Given the description of an element on the screen output the (x, y) to click on. 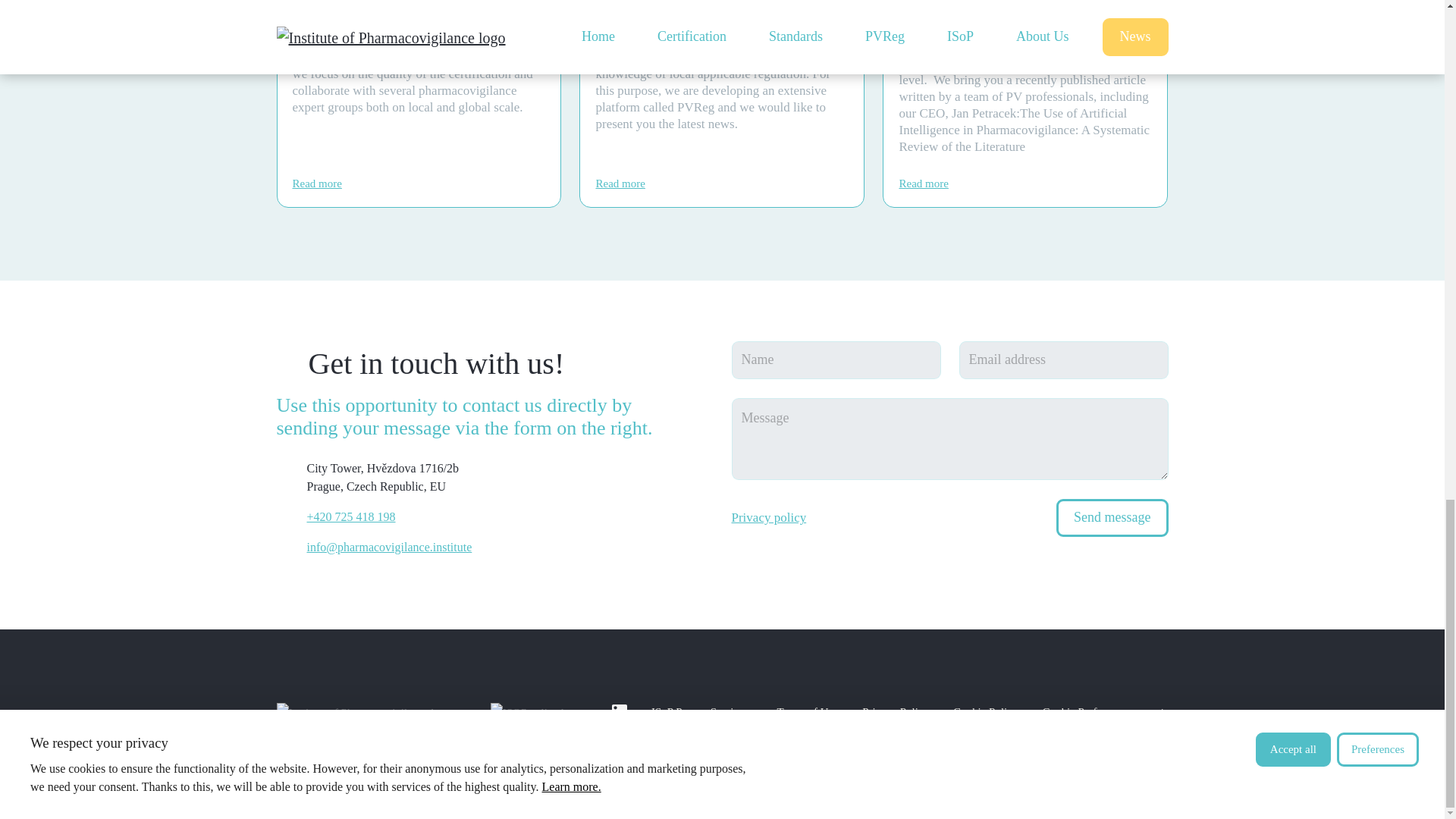
Send message (1112, 517)
Privacy Policy (895, 711)
Cookie Preferences (1085, 711)
Privacy policy (768, 517)
OptimWeb (525, 778)
International Society of Pharmacovigilance (535, 711)
Send message (1112, 517)
ISoP Prague Seminars (702, 711)
Cookie Policy (984, 711)
Terms of Use (807, 711)
Studio Biscuit (410, 778)
